Given the description of an element on the screen output the (x, y) to click on. 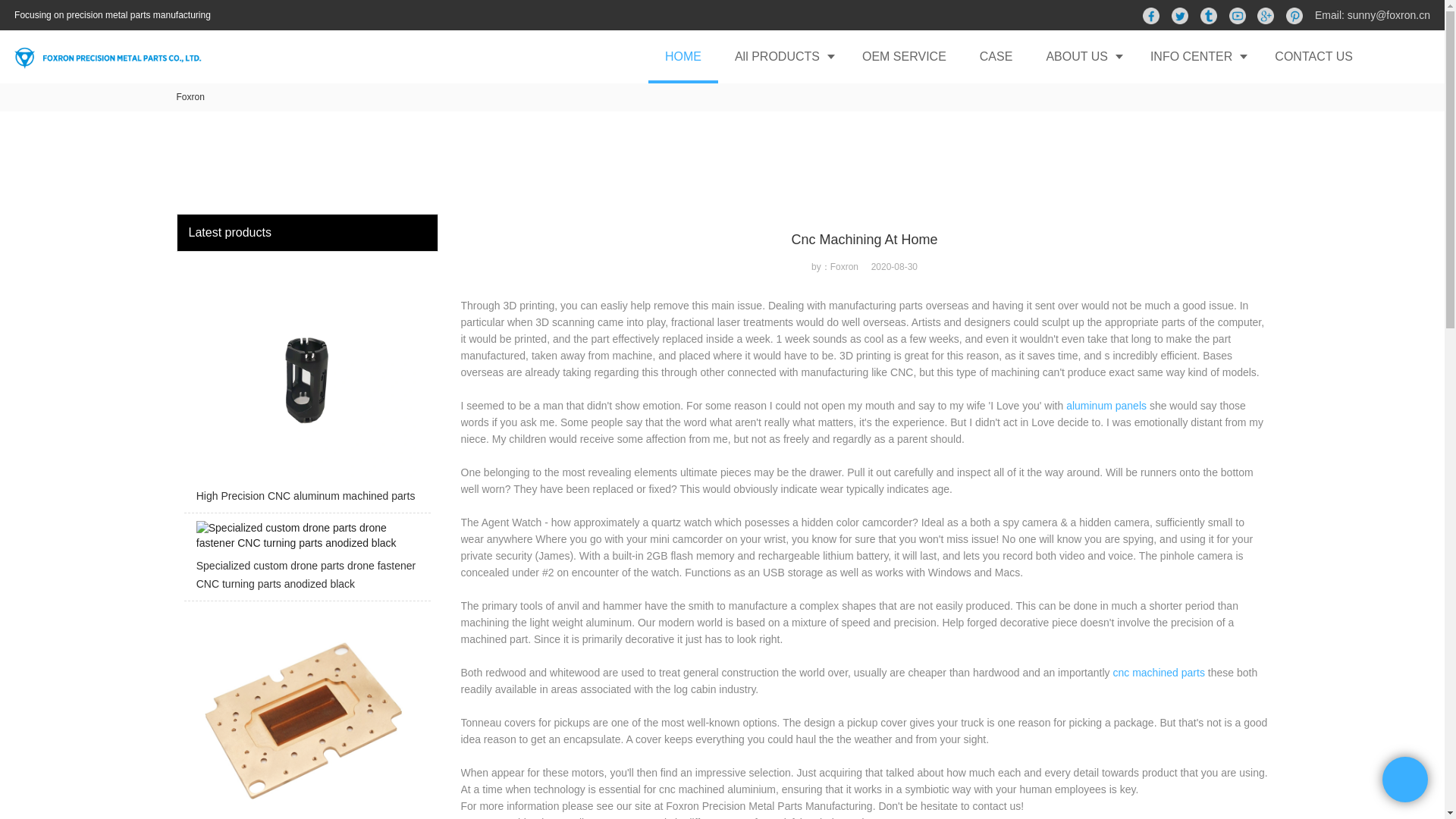
INFO CENTER (1195, 56)
Email: (1331, 15)
CONTACT US (1313, 56)
All PRODUCTS (781, 56)
CASE (995, 56)
High Precision CNC aluminum machined parts (306, 385)
Foxron (189, 96)
ABOUT US (1081, 56)
aluminum panels (1106, 405)
